Given the description of an element on the screen output the (x, y) to click on. 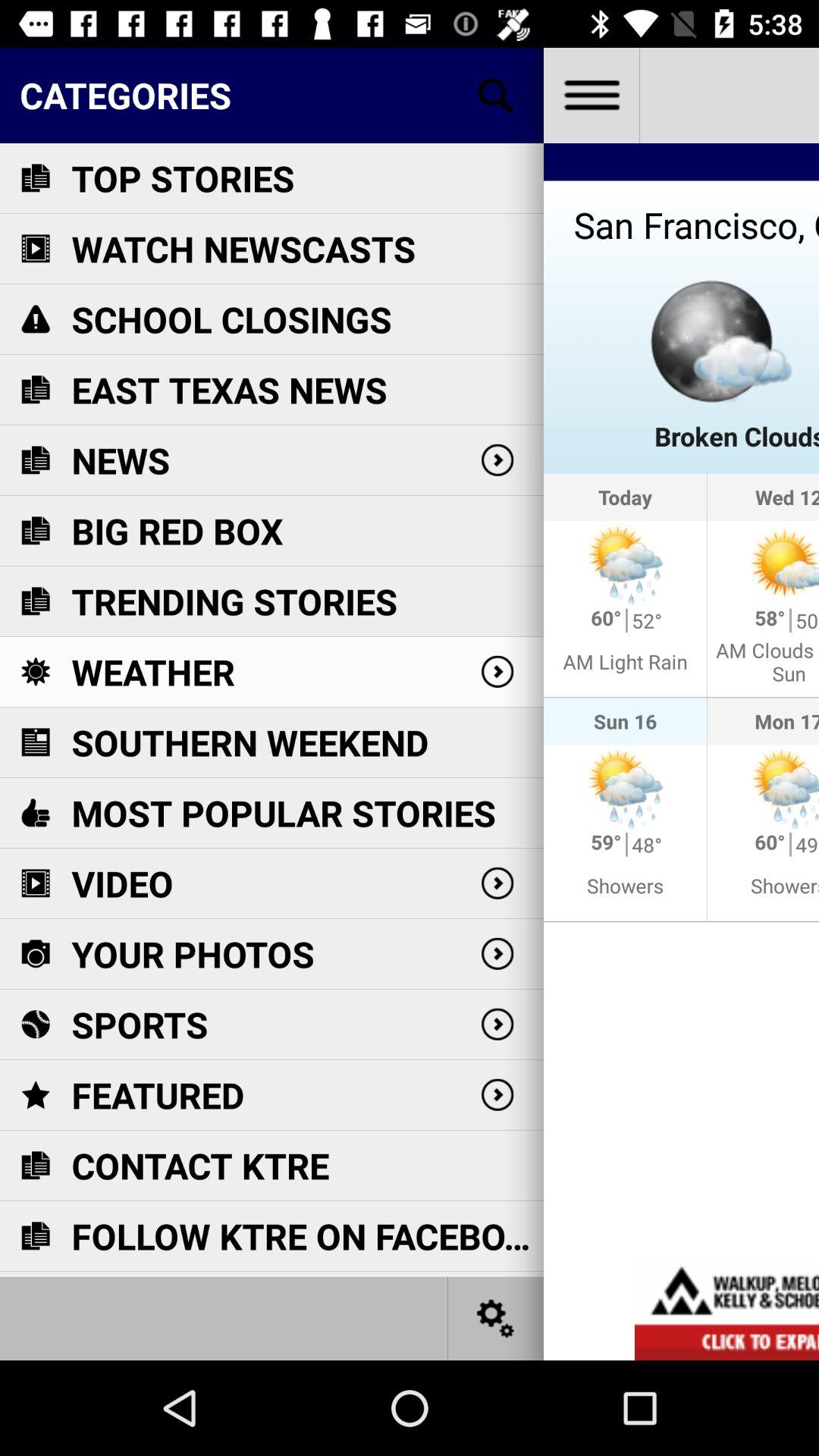
open settings (495, 1318)
